Given the description of an element on the screen output the (x, y) to click on. 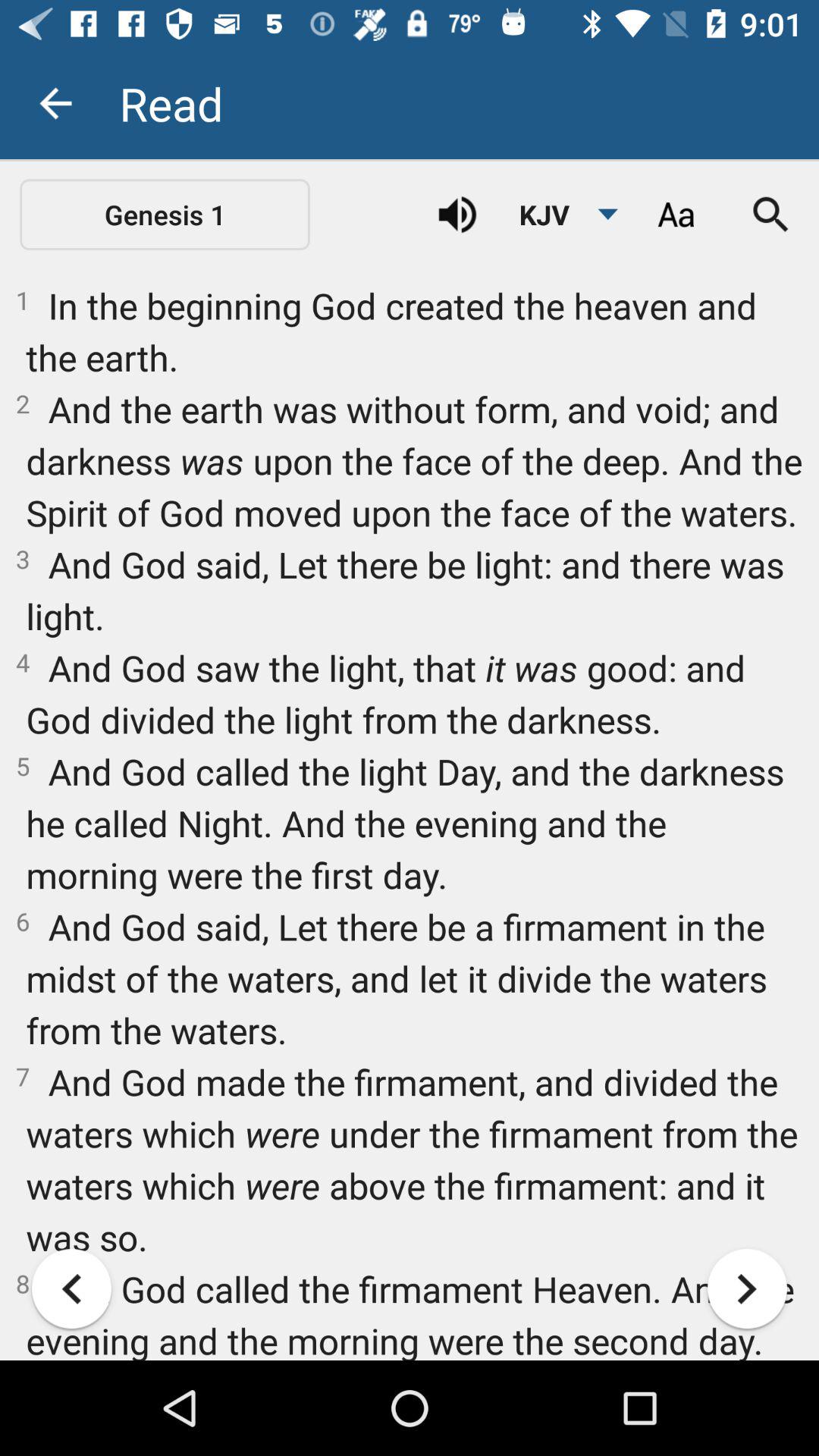
click icon above 1 in the (164, 214)
